Given the description of an element on the screen output the (x, y) to click on. 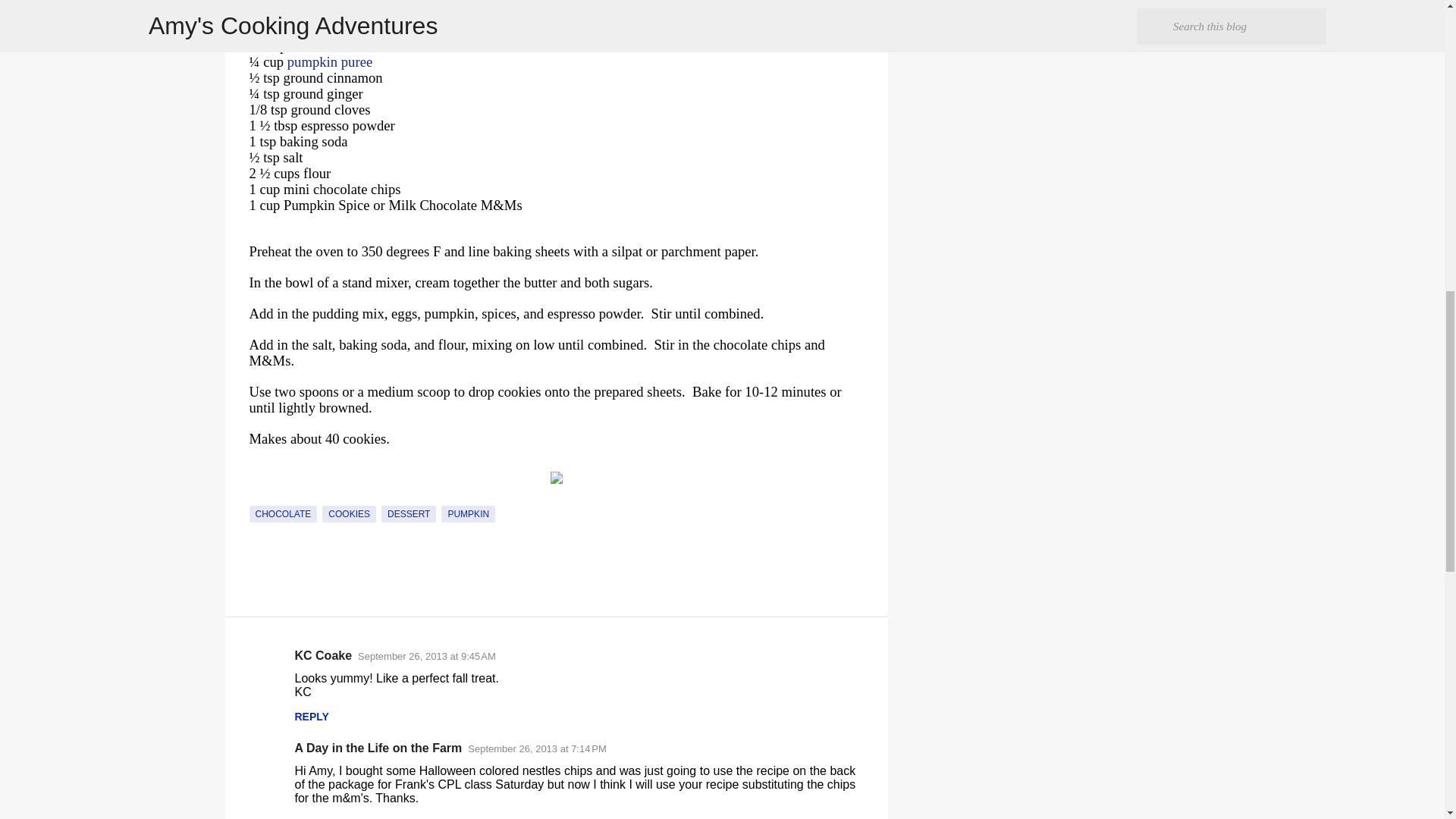
REPLY (311, 817)
COOKIES (348, 514)
pumpkin puree (329, 61)
A Day in the Life on the Farm (377, 748)
vanilla (309, 45)
REPLY (311, 716)
DESSERT (408, 514)
KC Coake (323, 655)
CHOCOLATE (282, 514)
